Given the description of an element on the screen output the (x, y) to click on. 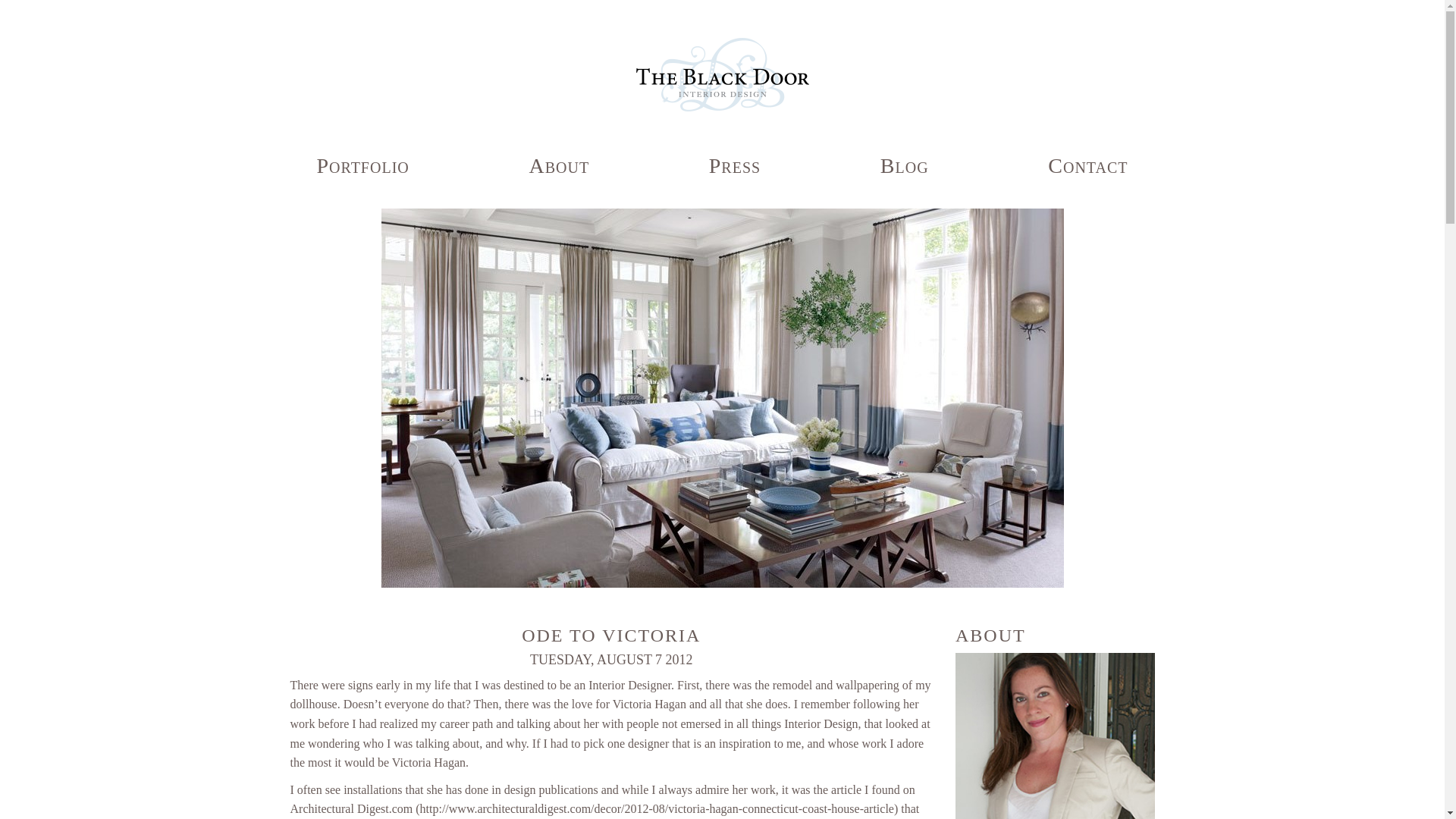
Blog (904, 165)
Press (734, 165)
Portfolio (363, 165)
Contact (1087, 165)
About (558, 165)
